Given the description of an element on the screen output the (x, y) to click on. 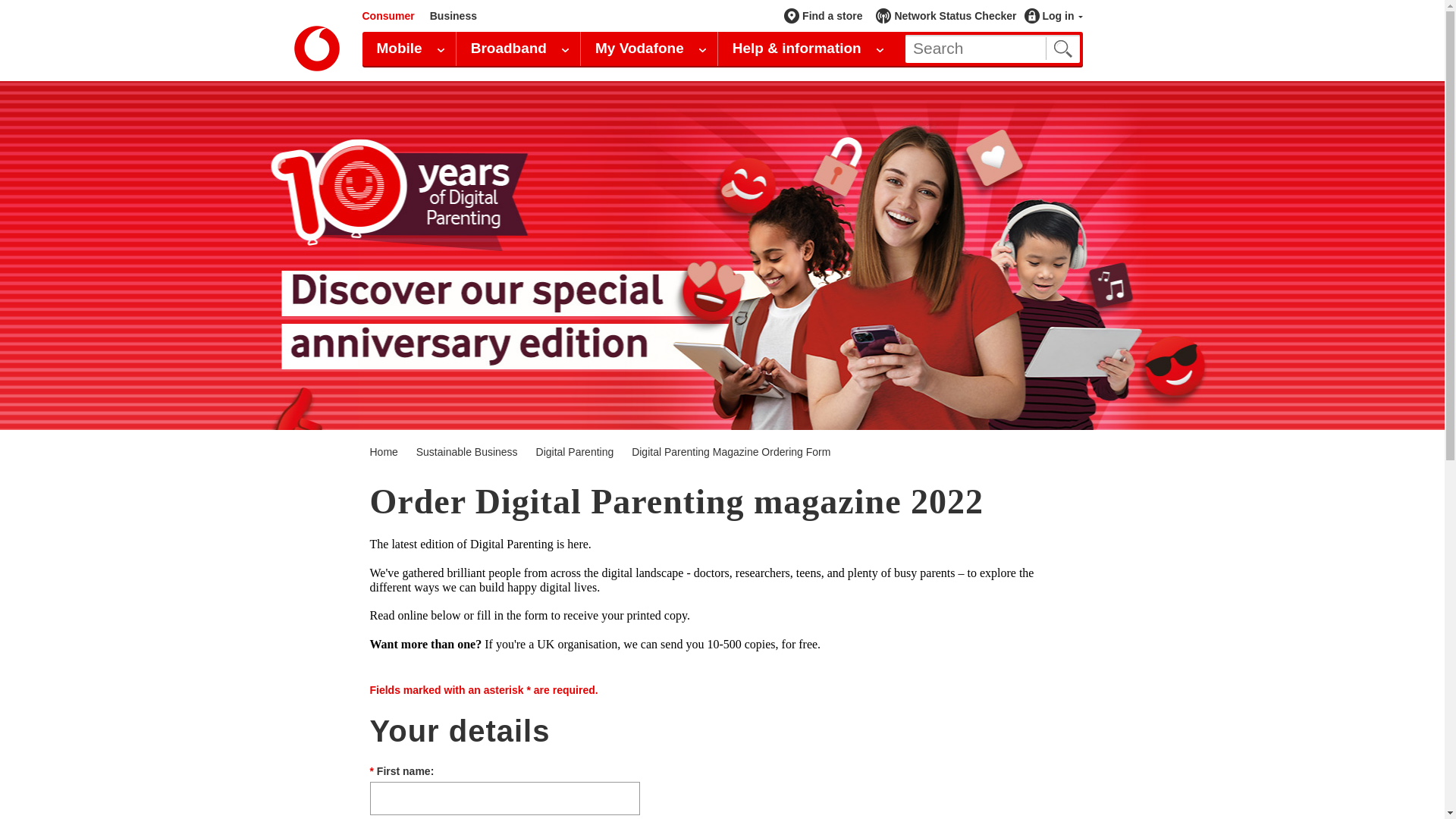
Mobile (408, 67)
Business (453, 15)
Broadband (518, 67)
Consumer (388, 15)
Log in (1052, 15)
My Vodafone (648, 67)
Network Status Checker (949, 15)
Find a store (830, 13)
